Given the description of an element on the screen output the (x, y) to click on. 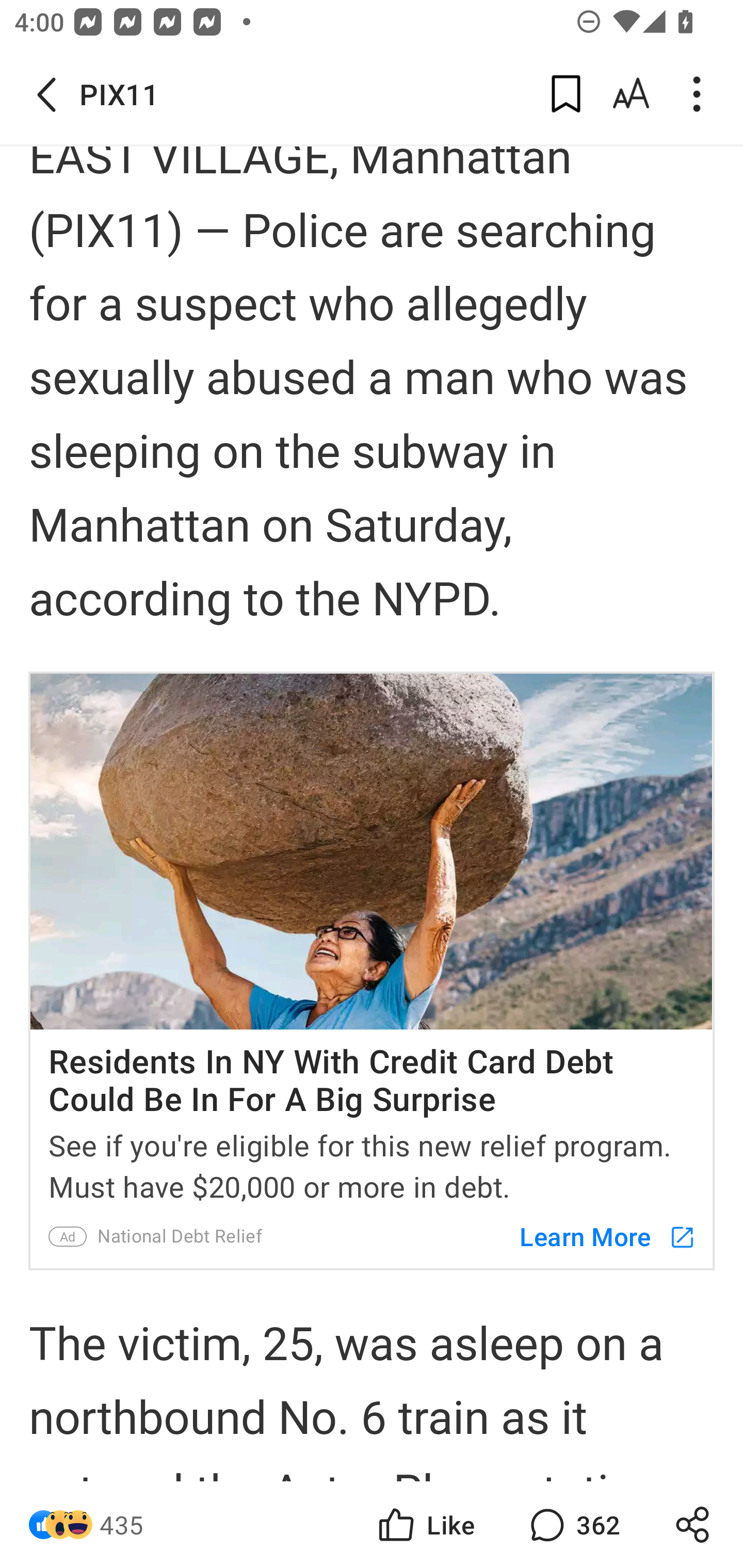
Learn More (597, 1236)
National Debt Relief (179, 1236)
435 (121, 1524)
Like (425, 1524)
362 (572, 1524)
